Given the description of an element on the screen output the (x, y) to click on. 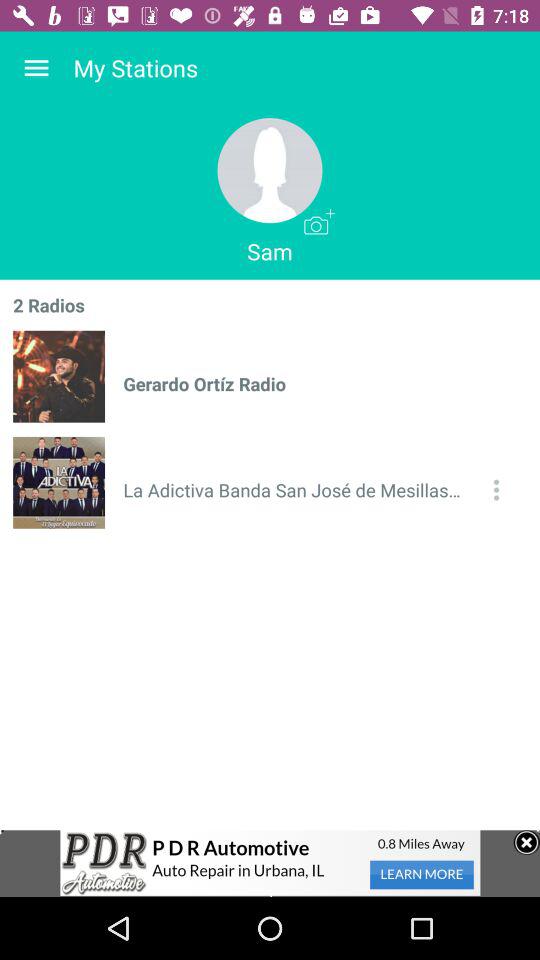
select la adictiva banda app (296, 489)
